Given the description of an element on the screen output the (x, y) to click on. 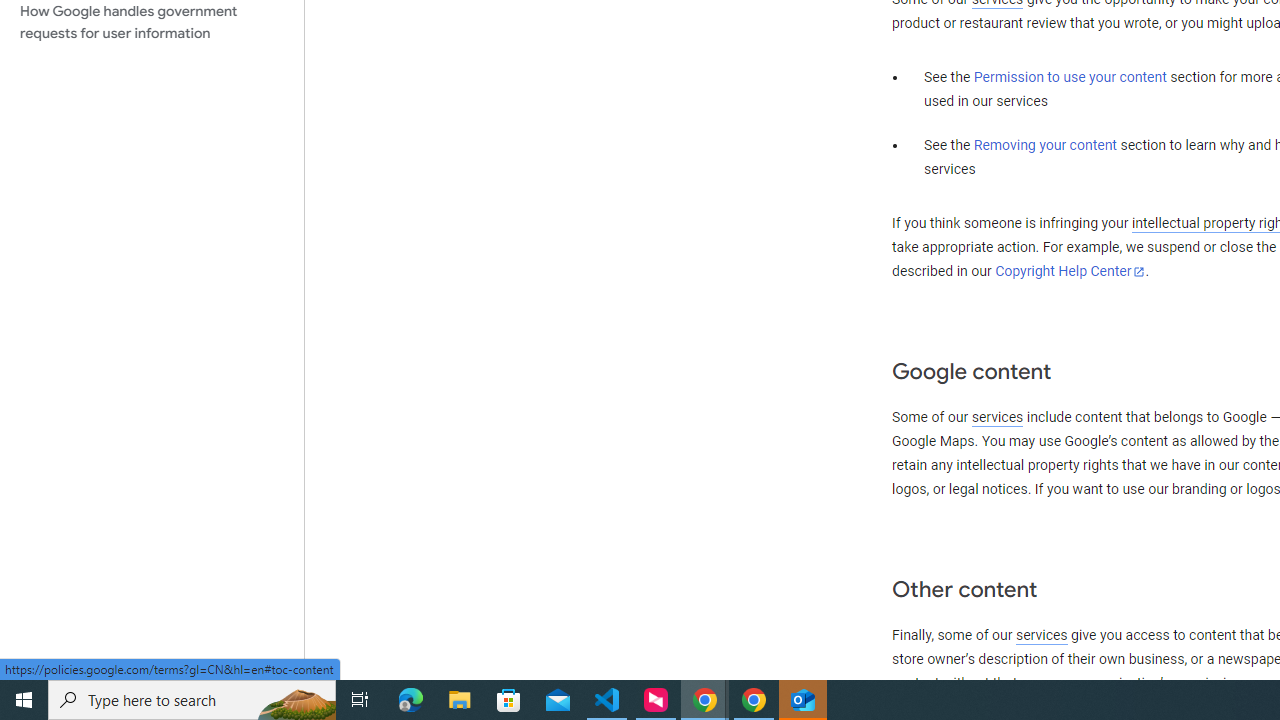
services (1041, 635)
Permission to use your content (1069, 78)
Removing your content (1044, 145)
Copyright Help Center (1069, 271)
